Given the description of an element on the screen output the (x, y) to click on. 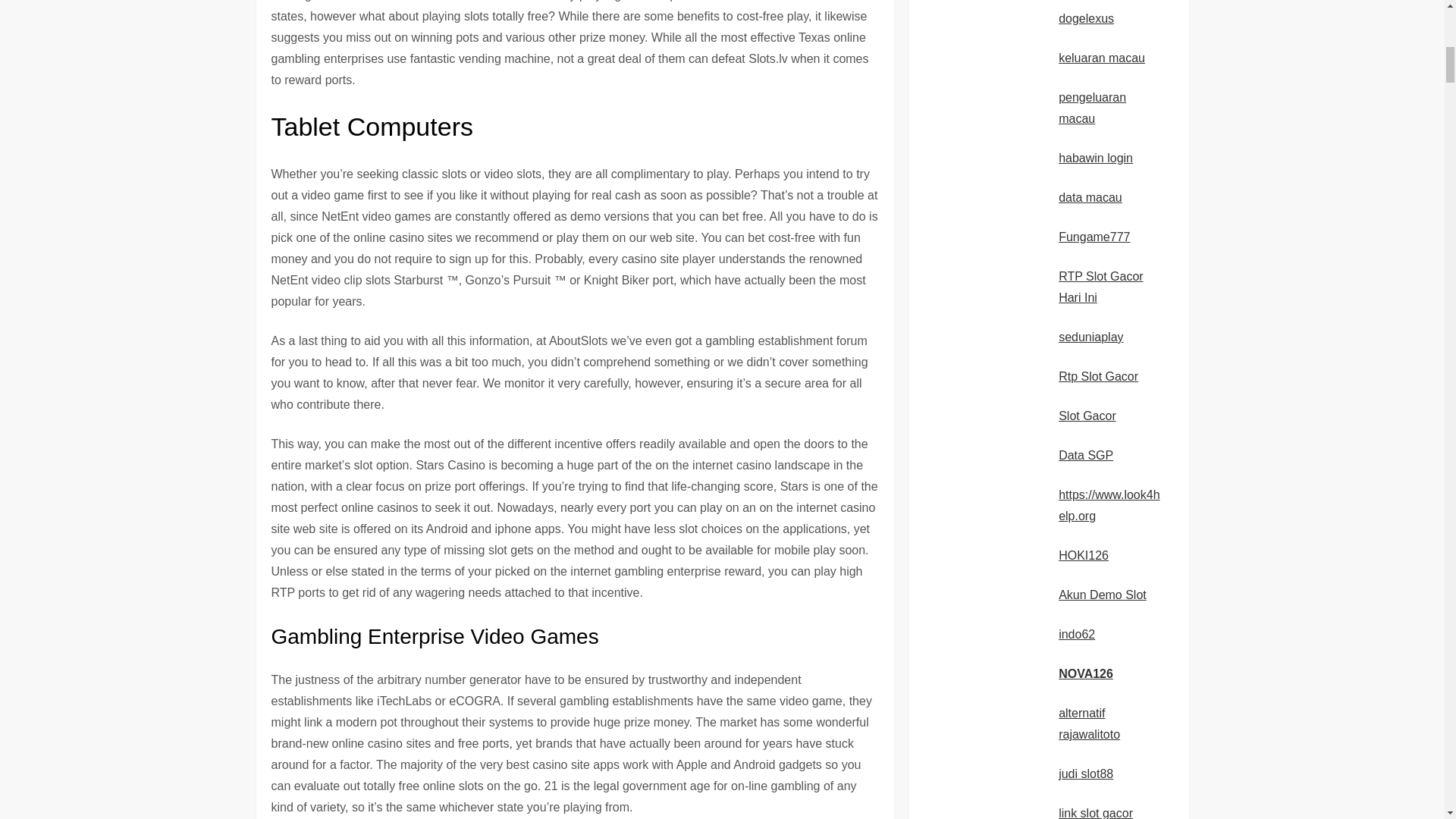
HOKI126 (1083, 554)
pengeluaran macau (1091, 107)
Rtp Slot Gacor (1098, 376)
seduniaplay (1090, 336)
Fungame777 (1093, 236)
data macau (1090, 196)
Data SGP (1085, 454)
keluaran macau (1101, 57)
dogelexus (1085, 18)
RTP Slot Gacor Hari Ini (1100, 286)
